Given the description of an element on the screen output the (x, y) to click on. 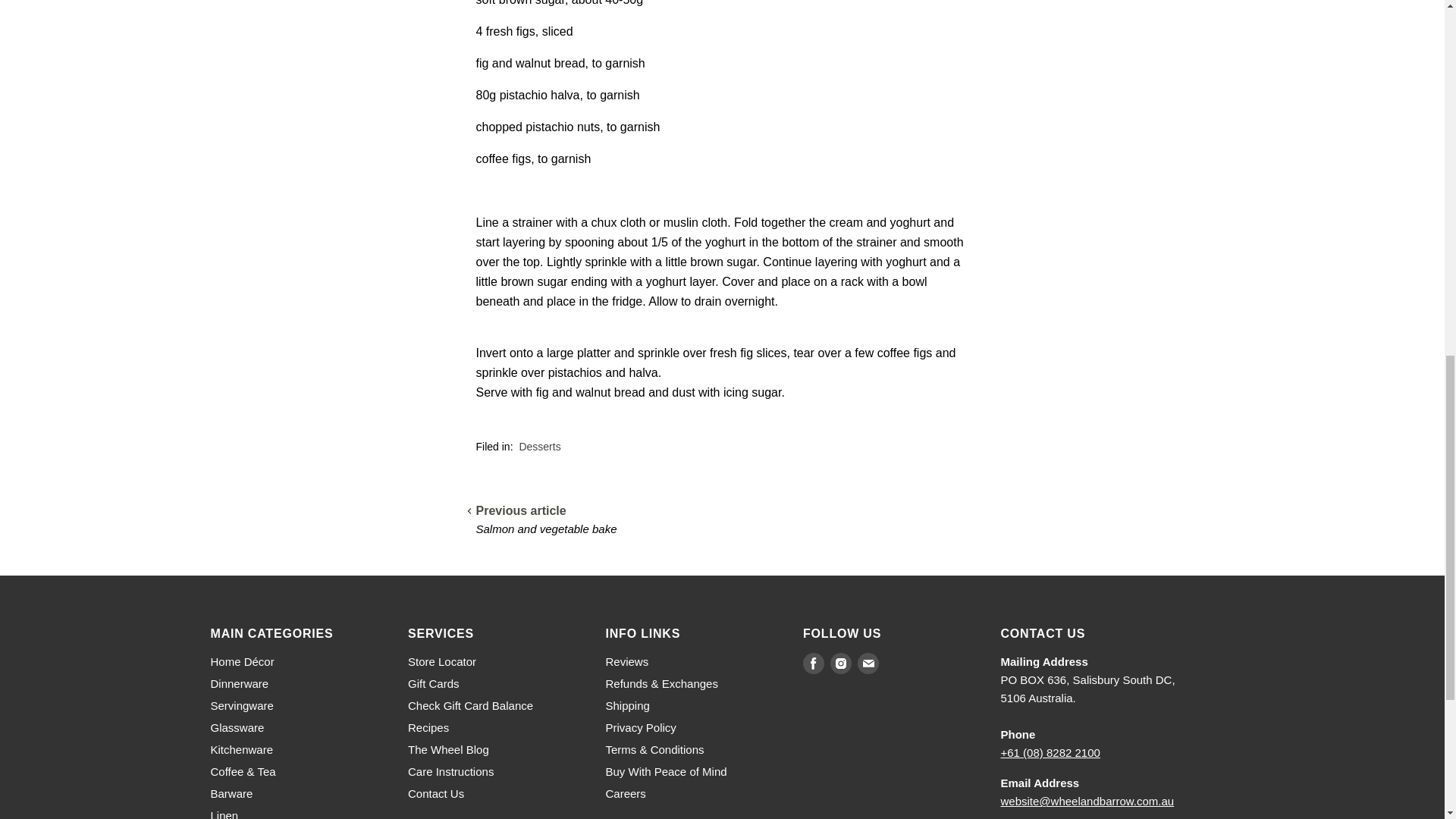
Email (868, 663)
Facebook (813, 663)
tel:0882822100 (1050, 752)
Instagram (840, 663)
Show articles tagged Desserts (539, 446)
